Given the description of an element on the screen output the (x, y) to click on. 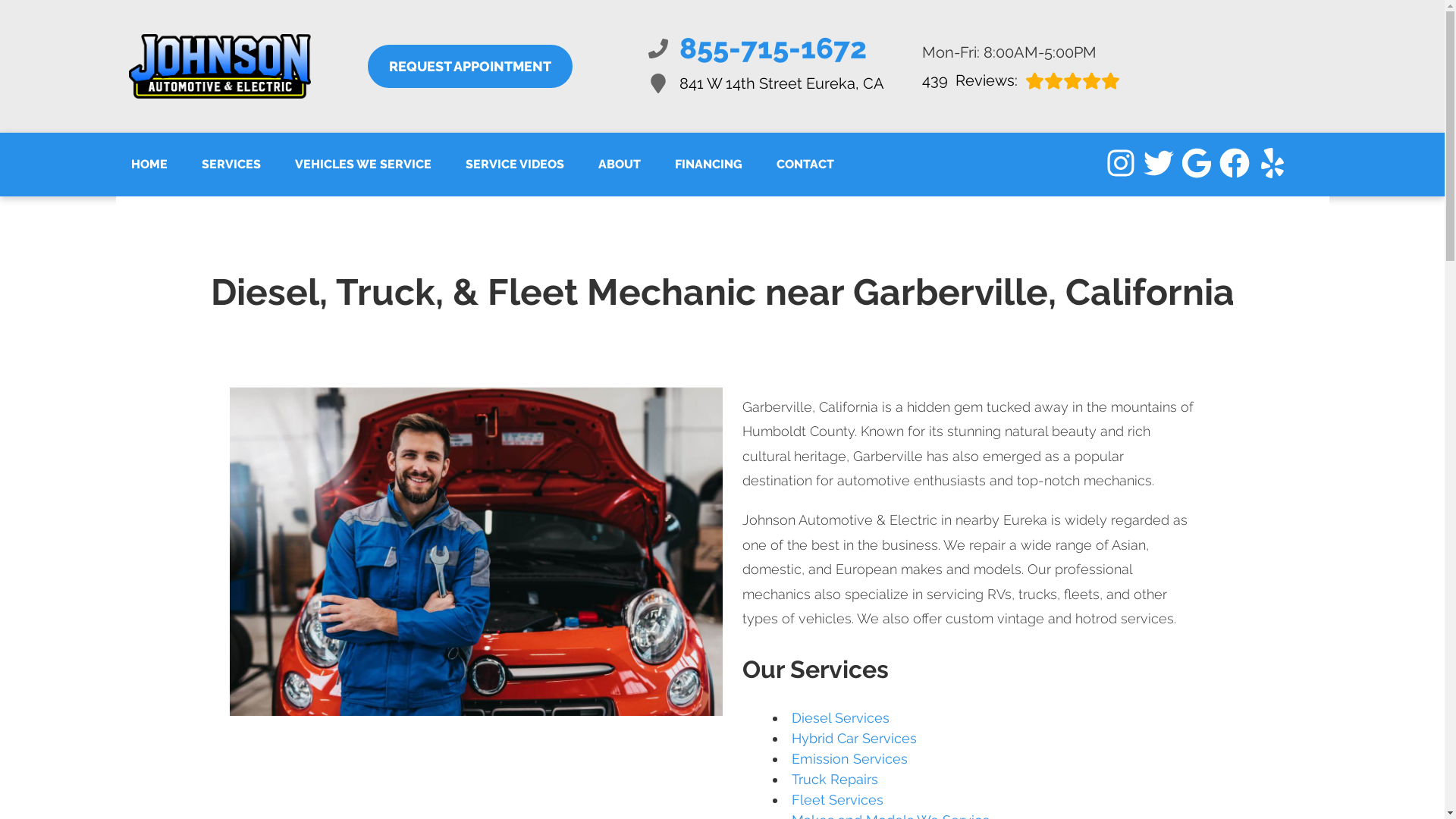
HOME (149, 164)
SERVICES (231, 164)
855-715-1672 (765, 47)
Our Reviews (765, 82)
REQUEST APPOINTMENT (1020, 80)
Home (469, 66)
Make an Appointment (149, 164)
VEHICLES WE SERVICE (469, 66)
Services (362, 164)
